Given the description of an element on the screen output the (x, y) to click on. 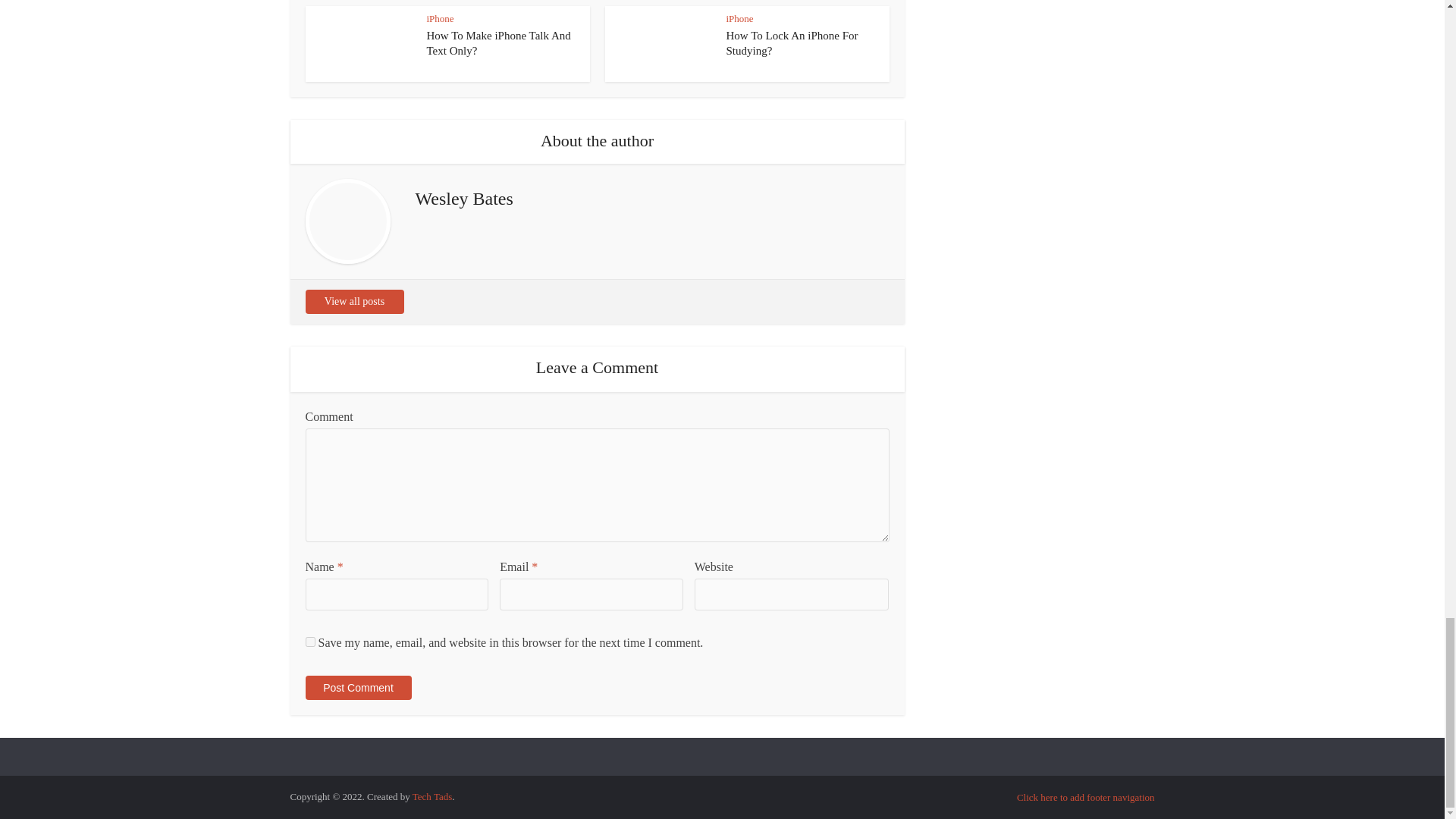
yes (309, 642)
Post Comment (357, 687)
